Given the description of an element on the screen output the (x, y) to click on. 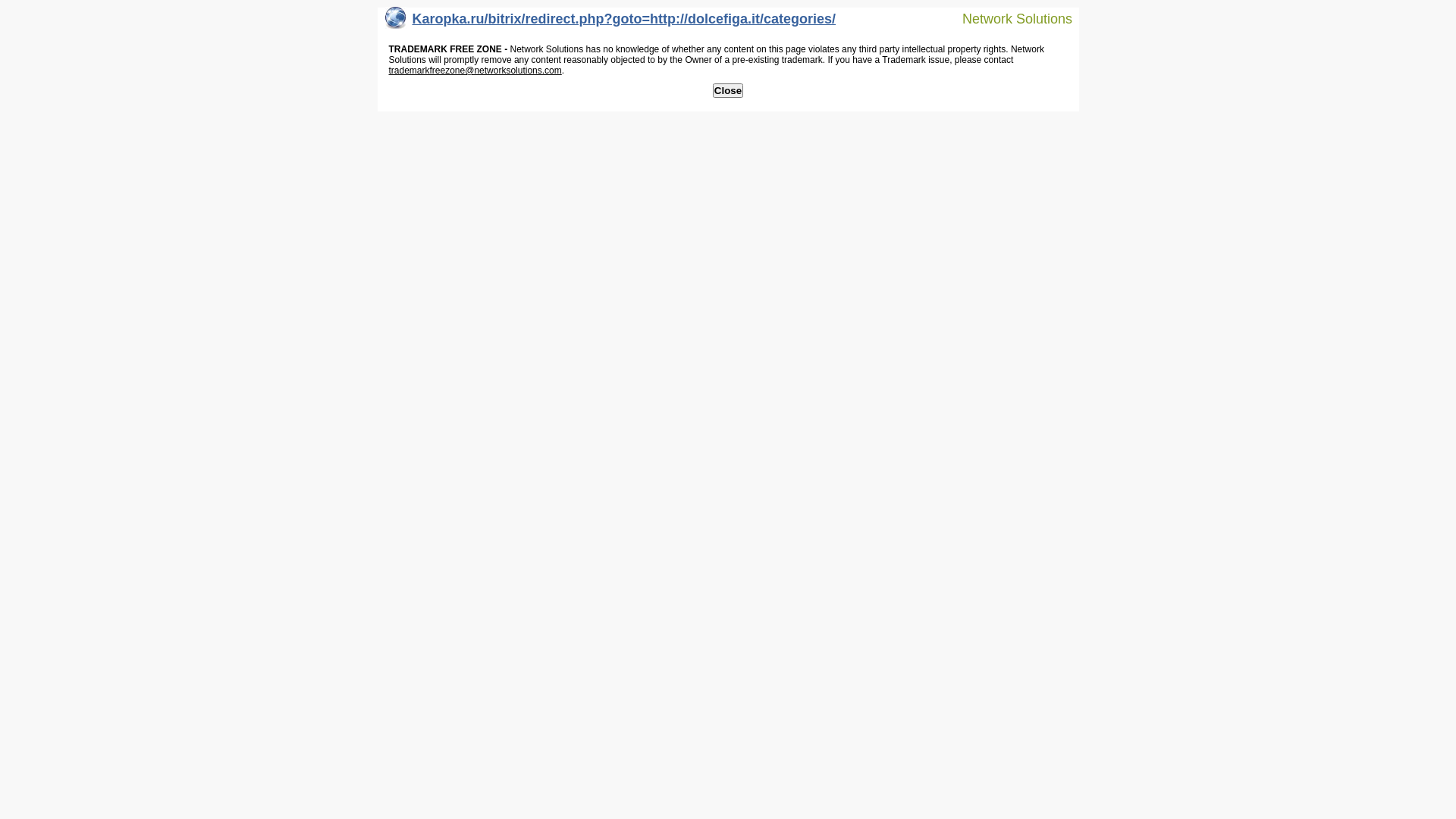
trademarkfreezone@networksolutions.com Element type: text (474, 70)
Close Element type: text (727, 90)
Network Solutions Element type: text (1007, 17)
